Given the description of an element on the screen output the (x, y) to click on. 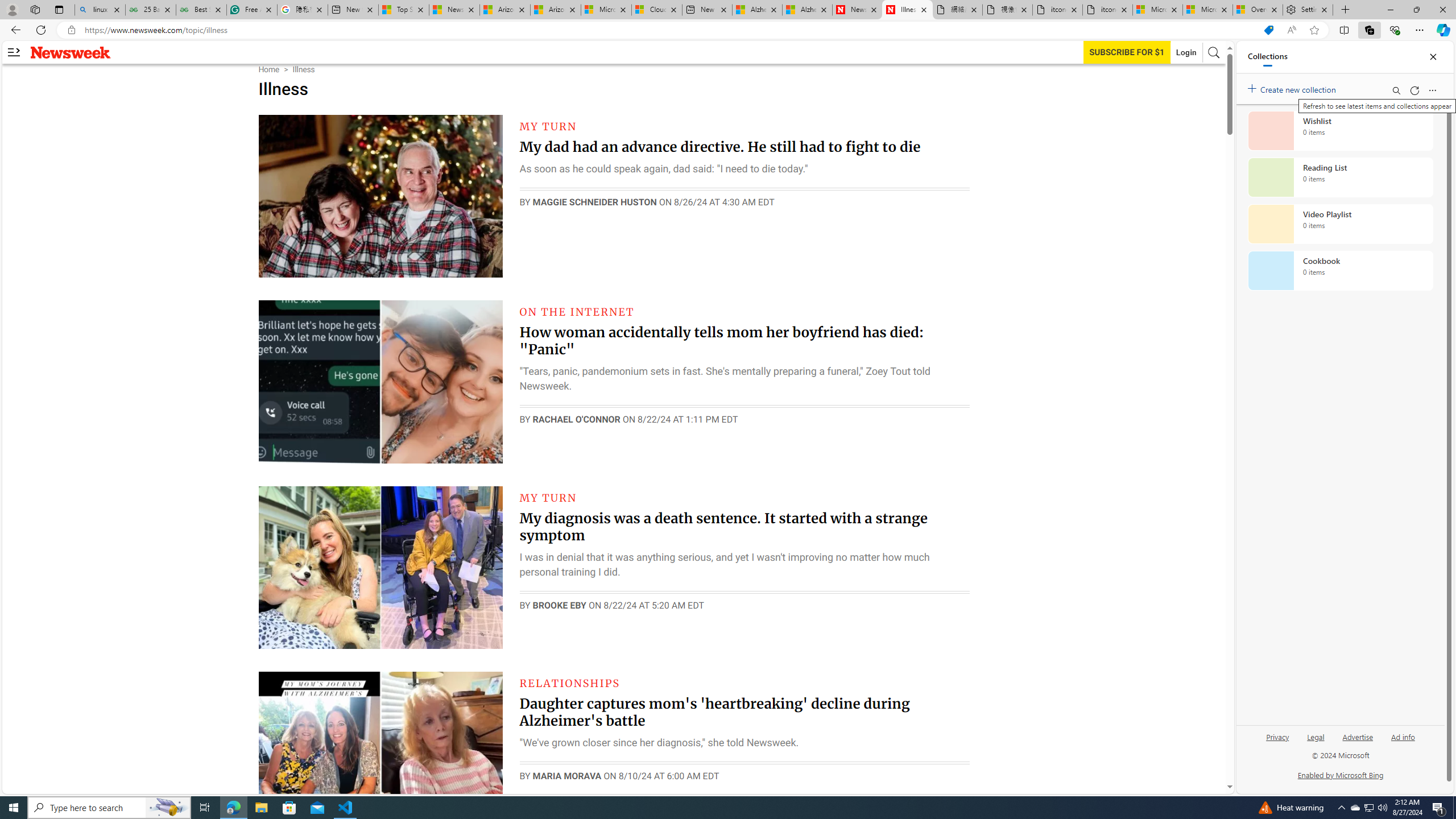
Overview (1257, 9)
Illness news & latest pictures from Newsweek.com (907, 9)
Cookbook collection, 0 items (1339, 270)
RELATIONSHIPS (569, 682)
Legal (1315, 741)
Video Playlist collection, 0 items (1339, 223)
Advertise (1357, 736)
Legal (1315, 736)
linux basic - Search (99, 9)
